Given the description of an element on the screen output the (x, y) to click on. 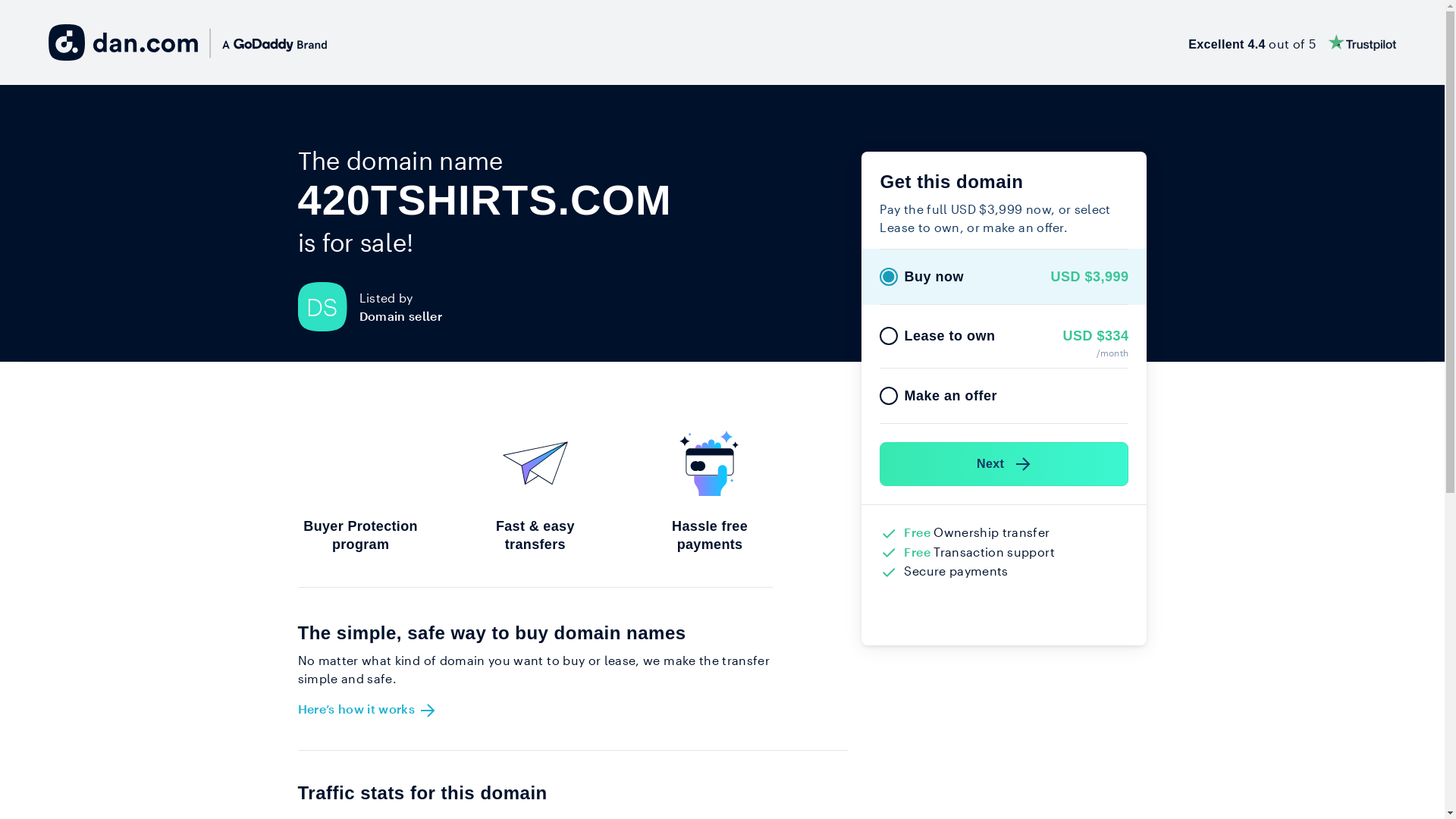
DS Element type: text (327, 306)
Excellent 4.4 out of 5 Element type: text (1292, 42)
Next
) Element type: text (1003, 464)
